Given the description of an element on the screen output the (x, y) to click on. 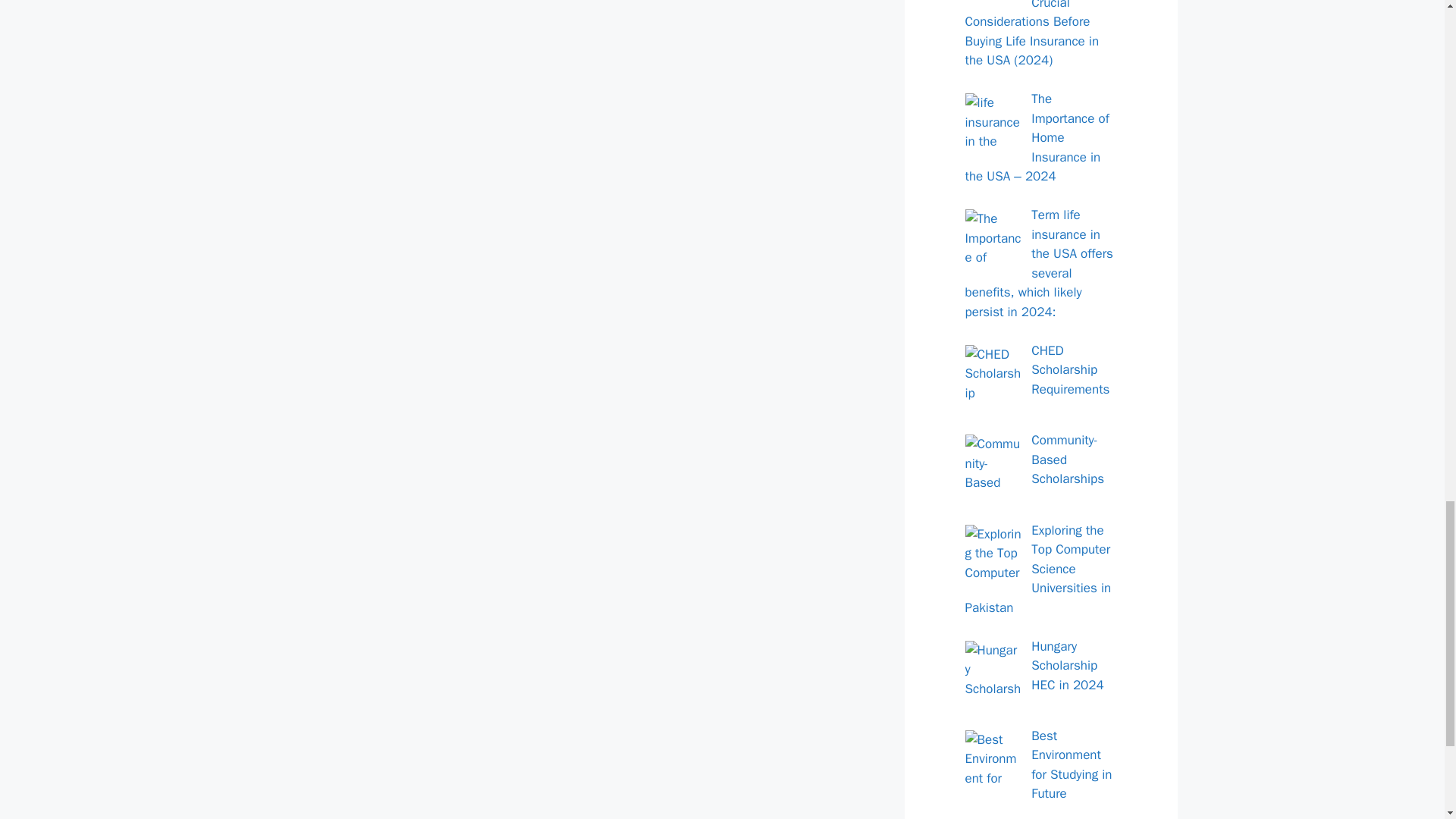
CHED Scholarship Requirements (1069, 370)
Community-Based Scholarships (1066, 459)
Best Environment for Studying in Future (1071, 765)
Hungary Scholarship HEC in 2024 (1066, 665)
Exploring the Top Computer Science Universities in Pakistan (1036, 568)
